Given the description of an element on the screen output the (x, y) to click on. 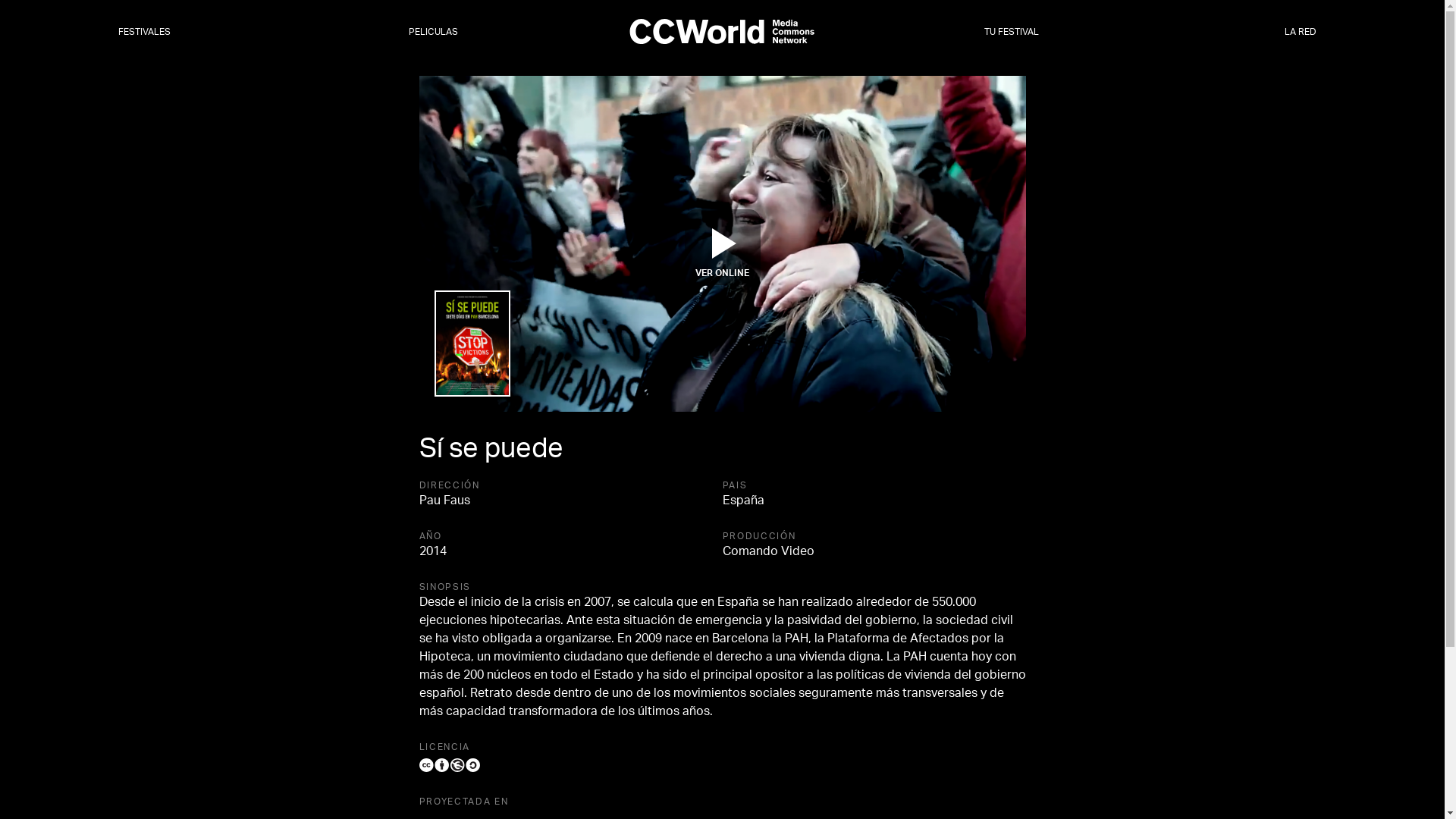
TU FESTIVAL Element type: text (1011, 32)
VER ONLINE Element type: text (721, 247)
PELICULAS Element type: text (433, 32)
LA RED Element type: text (1300, 32)
FESTIVALES Element type: text (144, 32)
